Given the description of an element on the screen output the (x, y) to click on. 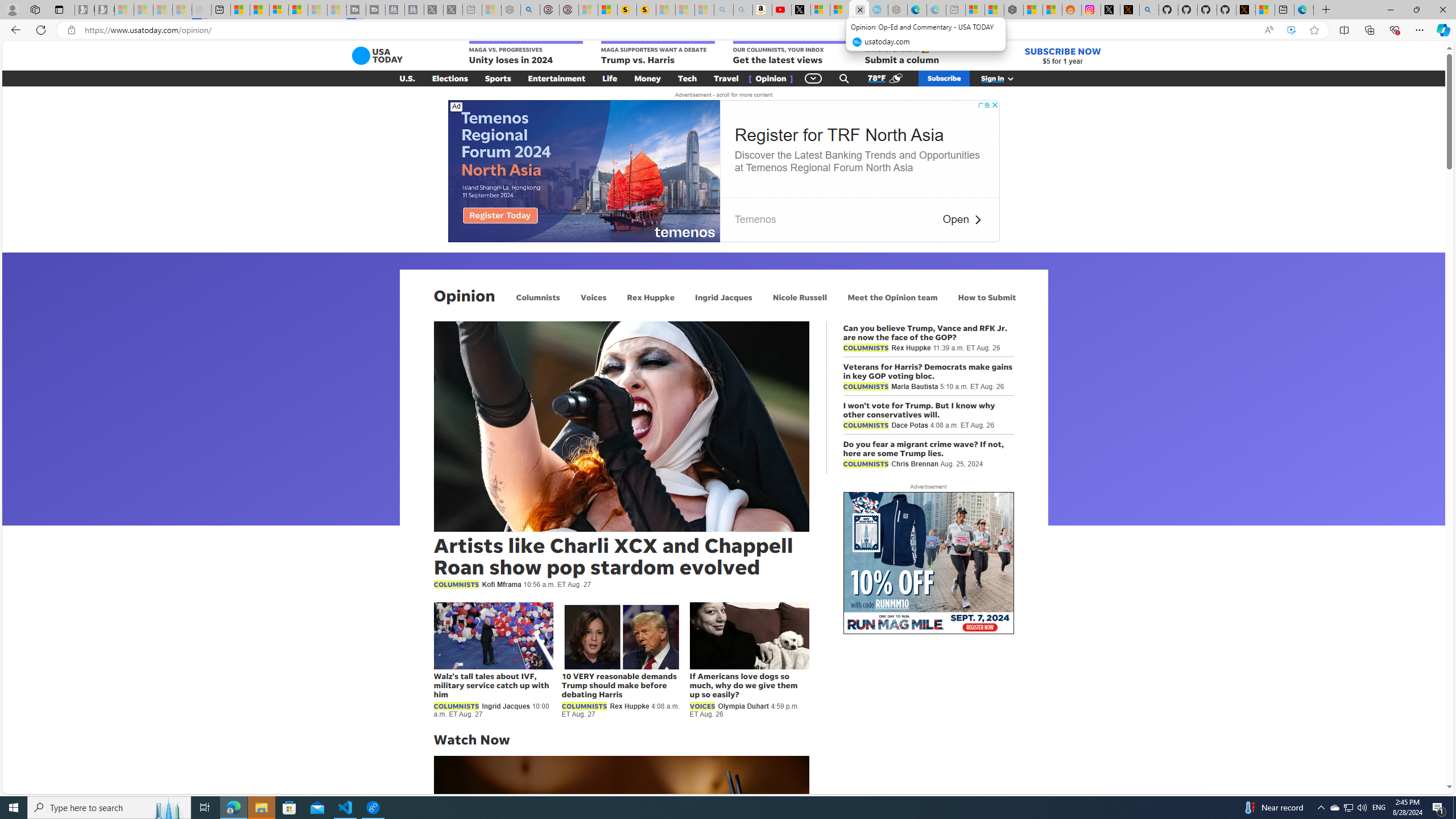
Amazon Echo Dot PNG - Search Images - Sleeping (742, 9)
X (800, 9)
OUR COLUMNISTS, YOUR INBOX Get the latest views (789, 53)
Enhance video (1291, 29)
X - Sleeping (452, 9)
Personal Profile (12, 9)
Class: ns-dqusr-e-26 flip-on-rtl (977, 219)
Michelle Starr, Senior Journalist at ScienceAlert (646, 9)
Copilot (Ctrl+Shift+.) (1442, 29)
Day 1: Arriving in Yemen (surreal to be here) - YouTube (781, 9)
Class: gnt_n_dd_bt_svg (813, 78)
